Given the description of an element on the screen output the (x, y) to click on. 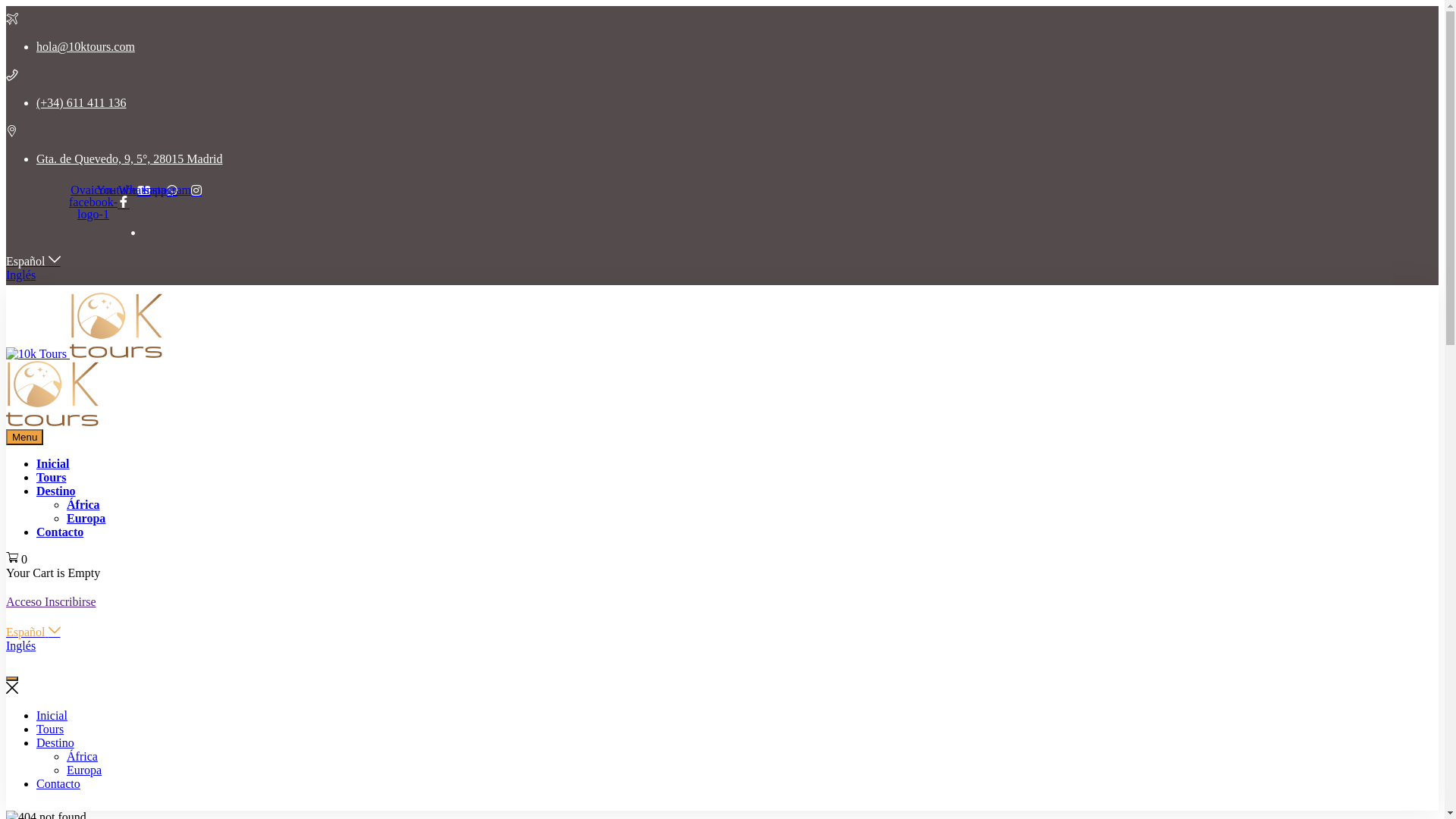
Europa Element type: text (83, 769)
Contacto Element type: text (59, 531)
Instagram Element type: text (172, 190)
Tours Element type: text (50, 476)
hola@10ktours.com Element type: text (85, 46)
Menu Element type: text (24, 437)
Tours Element type: text (49, 728)
Ovaicon-facebook-logo-1 Element type: text (99, 202)
Inscribirse Element type: text (70, 601)
Inicial Element type: text (51, 715)
Acceso Element type: text (25, 601)
Inicial Element type: text (52, 463)
Destino Element type: text (55, 742)
Whatsapp Element type: text (147, 190)
(+34) 611 411 136 Element type: text (81, 102)
Contacto Element type: text (58, 783)
Europa Element type: text (85, 517)
Youtube Element type: text (123, 190)
Destino Element type: text (55, 490)
